Given the description of an element on the screen output the (x, y) to click on. 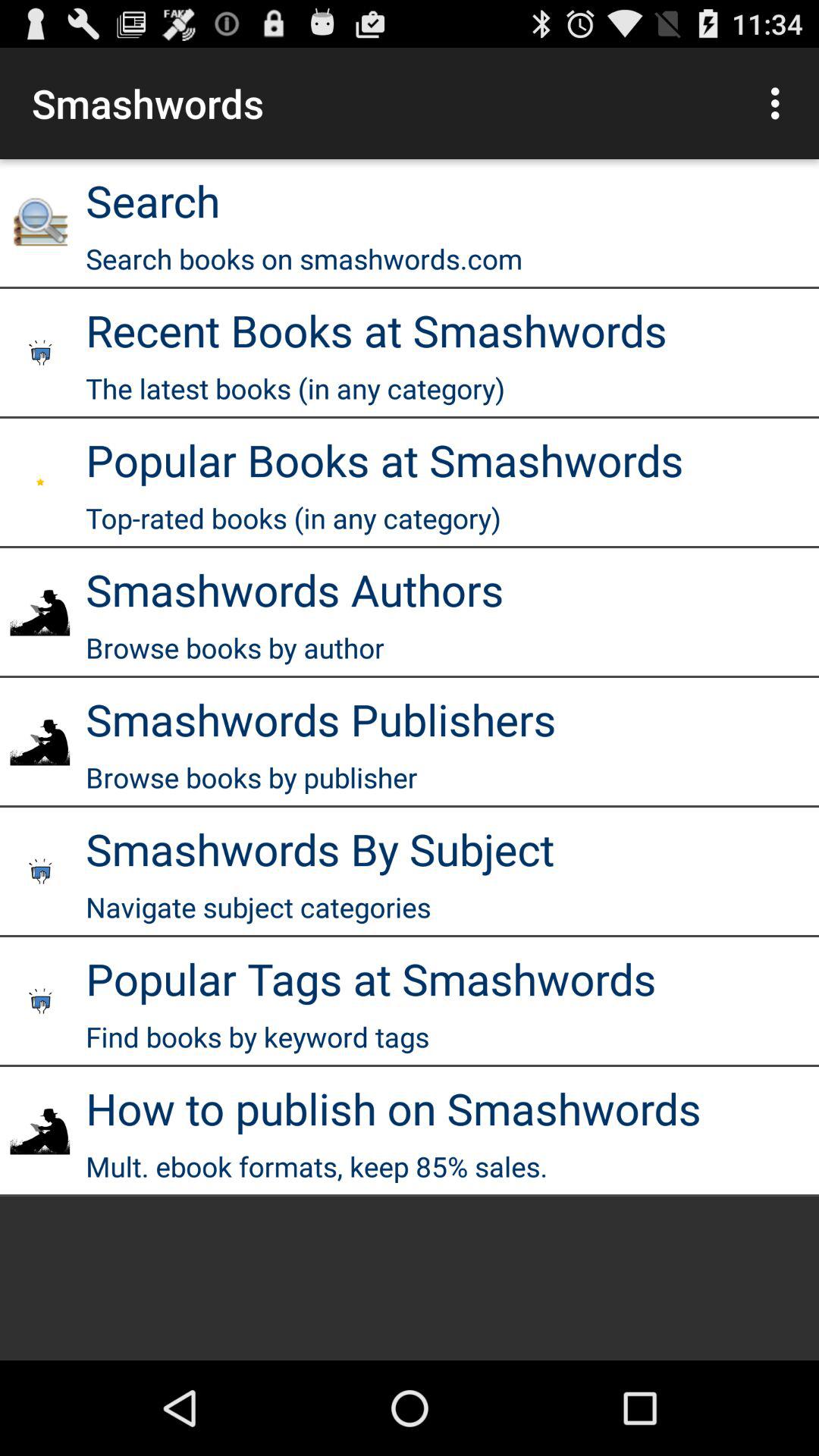
click search books on icon (303, 258)
